Given the description of an element on the screen output the (x, y) to click on. 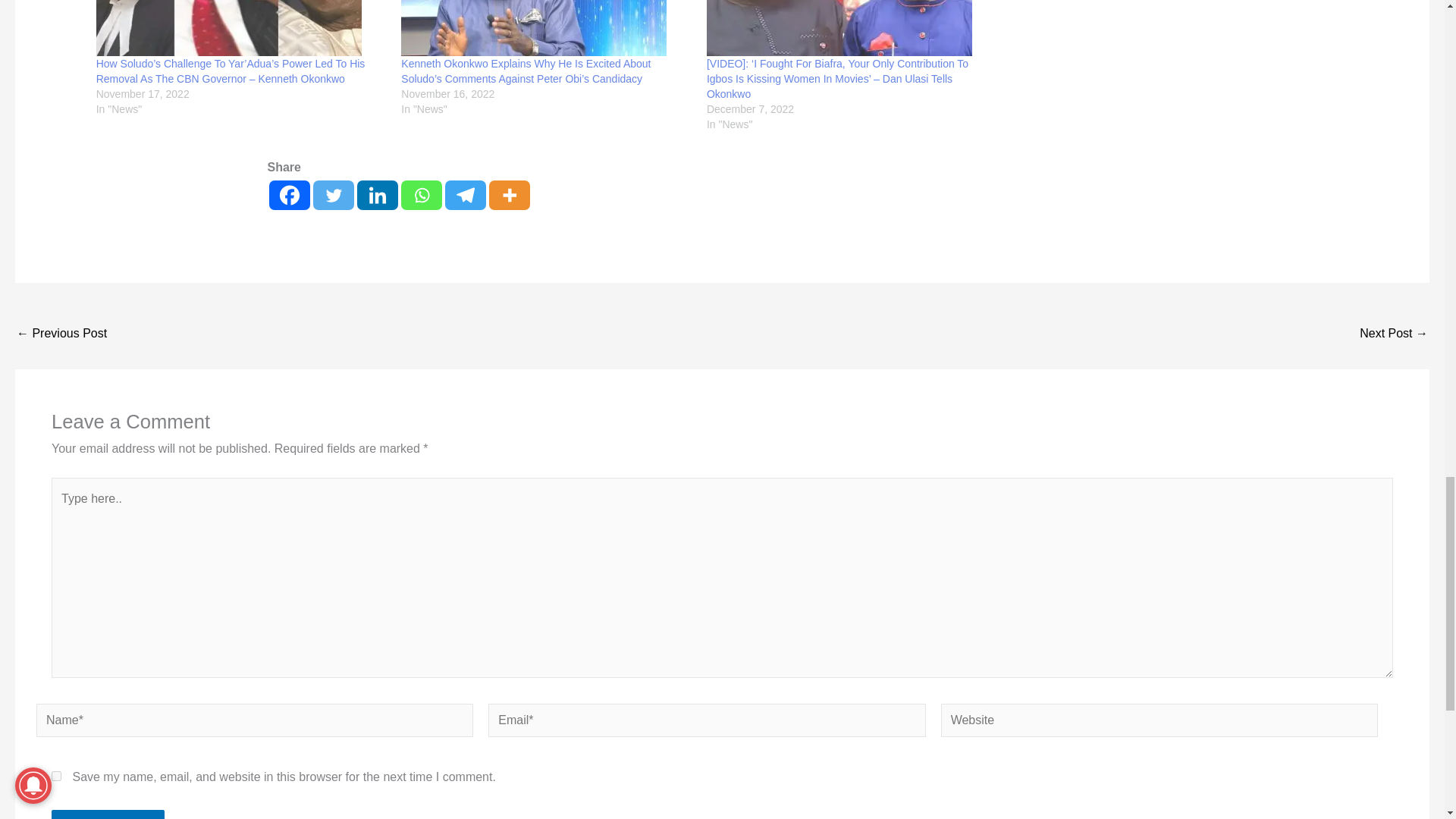
yes (55, 776)
